Given the description of an element on the screen output the (x, y) to click on. 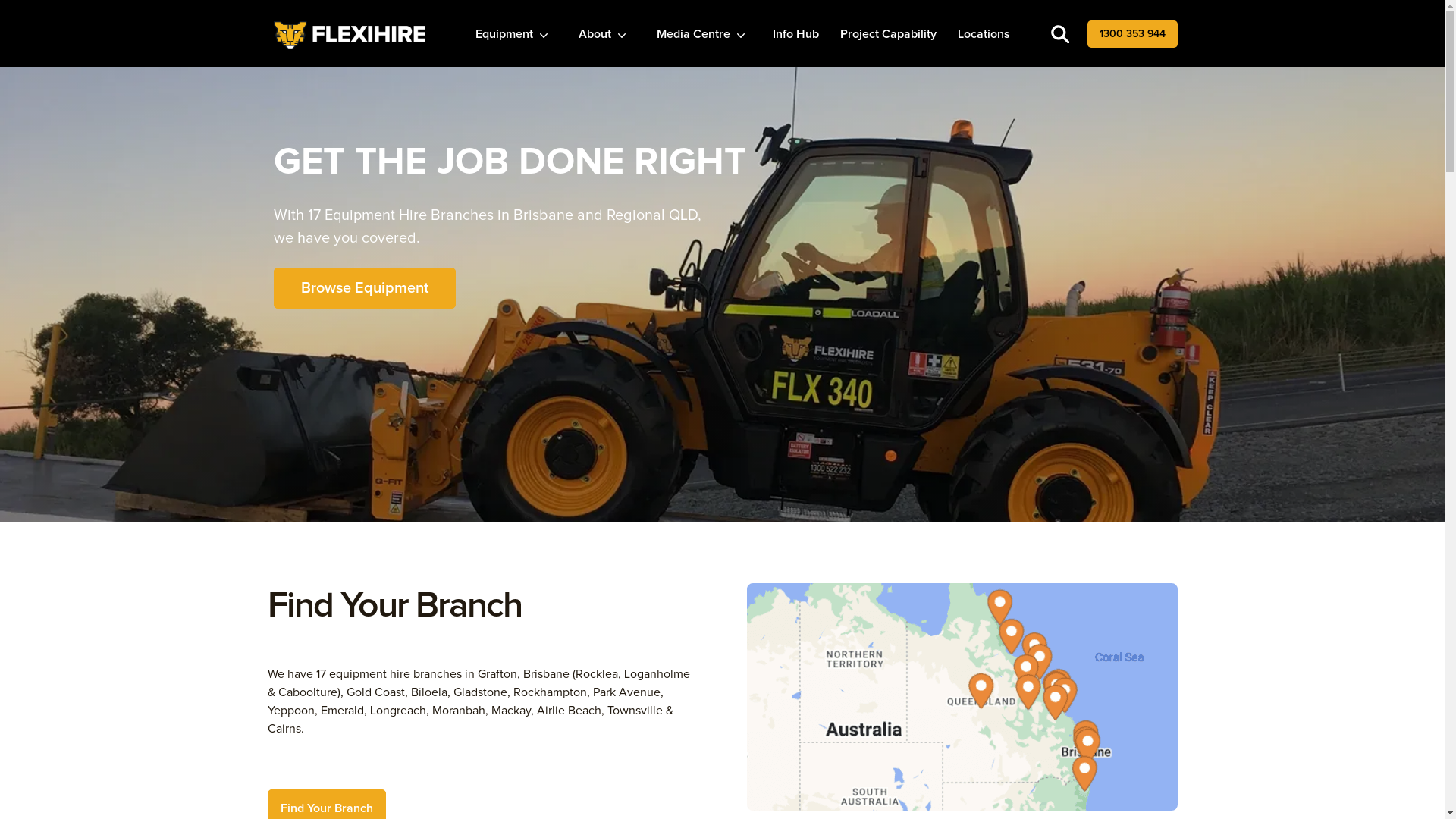
Equipment Element type: text (512, 33)
About Element type: text (602, 33)
Info Hub Element type: text (794, 33)
Media Centre Element type: text (702, 33)
Browse Equipment Element type: text (364, 287)
Project Capability Element type: text (888, 33)
Locations Element type: text (982, 33)
1300 353 944 Element type: text (1132, 33)
